Given the description of an element on the screen output the (x, y) to click on. 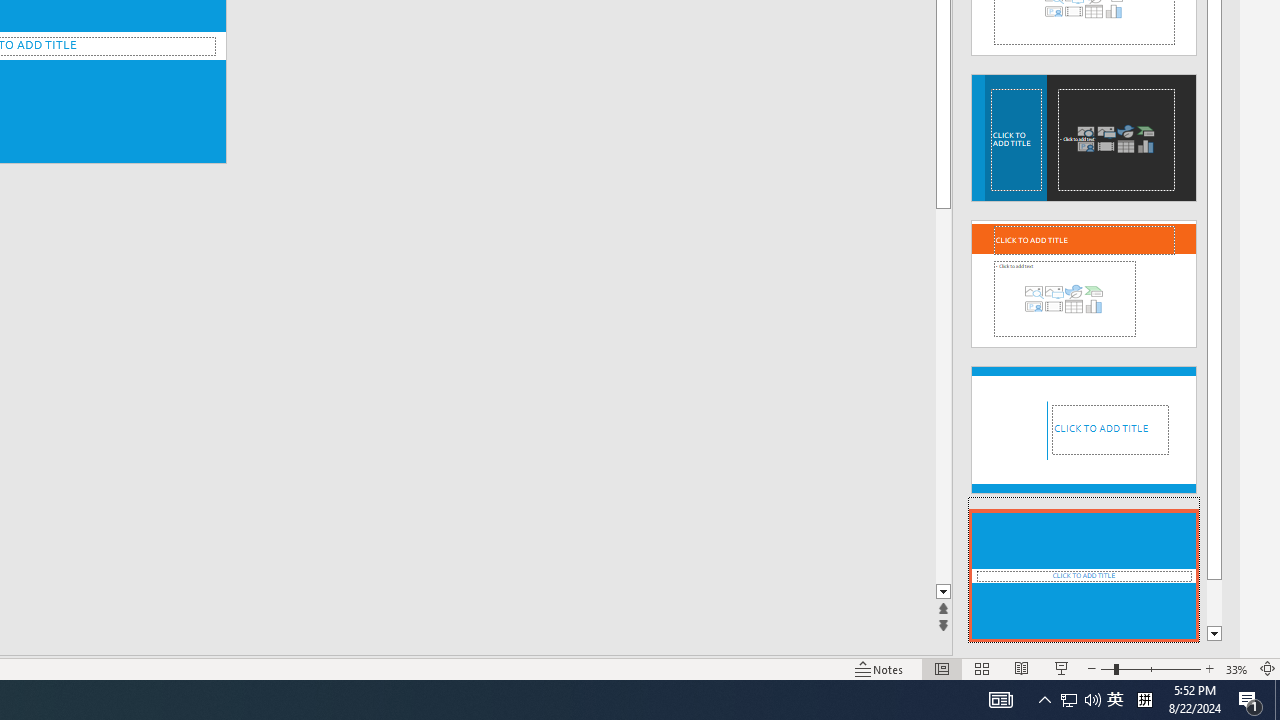
Zoom 33% (1236, 668)
